Given the description of an element on the screen output the (x, y) to click on. 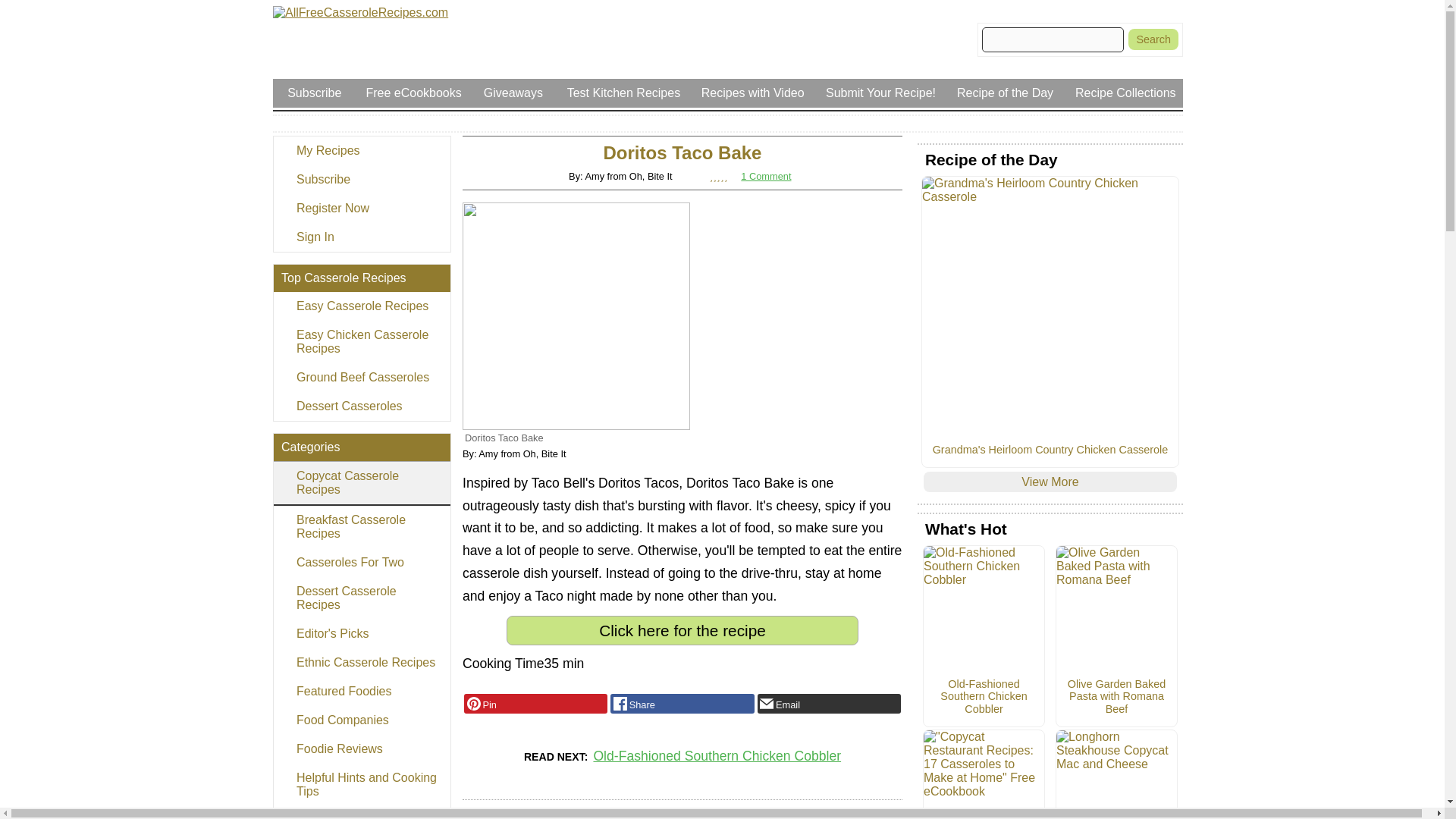
Email (829, 703)
Register Now (361, 208)
Search (1152, 38)
Doritos Taco Bake (576, 315)
Sign In (361, 236)
My Recipes (361, 150)
Subscribe (361, 179)
Facebook (682, 703)
